Given the description of an element on the screen output the (x, y) to click on. 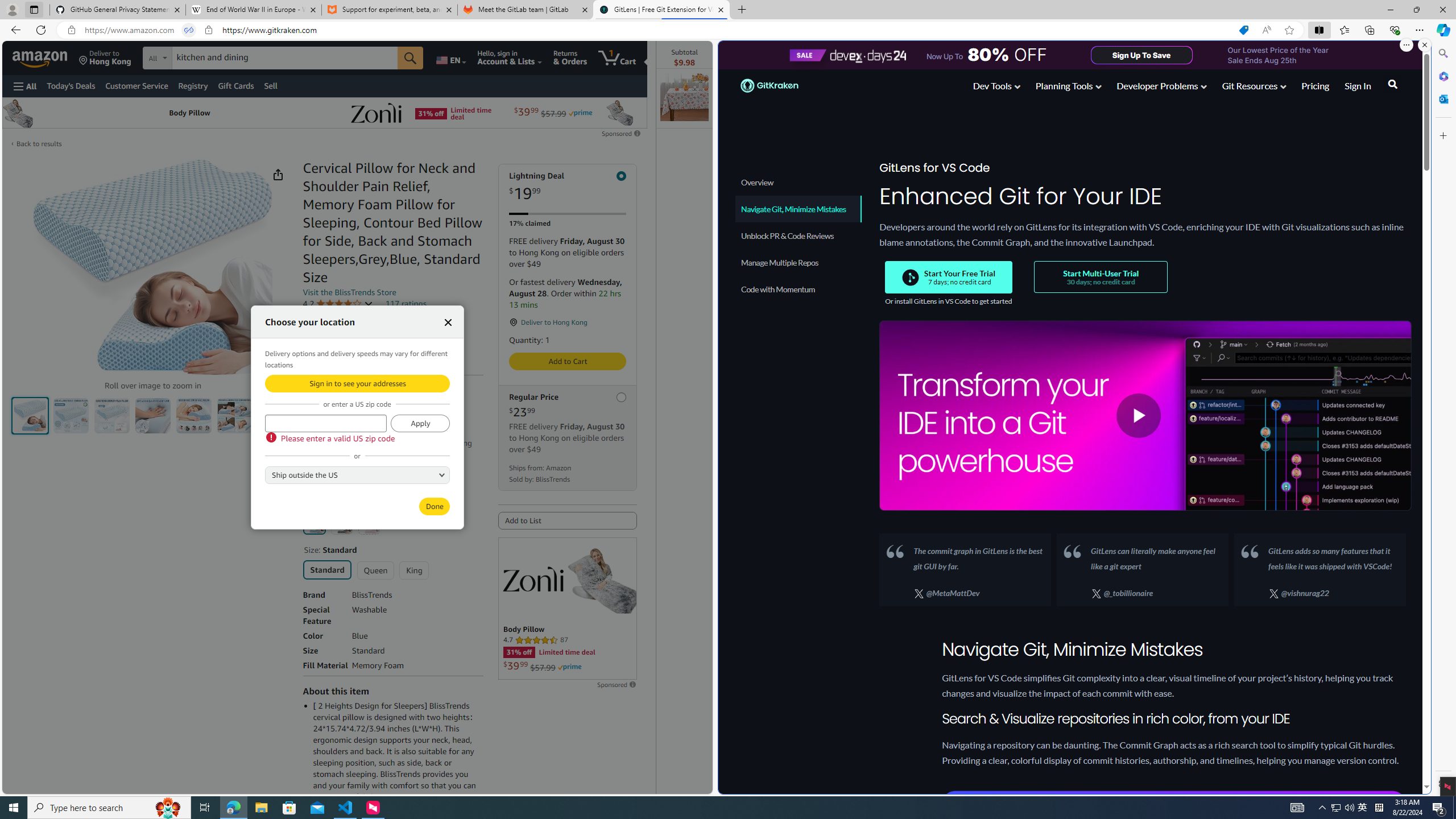
Start Multi-User Trial 30 days; no credit card (1100, 277)
Blue (314, 522)
Code with Momentum (797, 288)
Blue (314, 522)
Pricing (1315, 85)
